Given the description of an element on the screen output the (x, y) to click on. 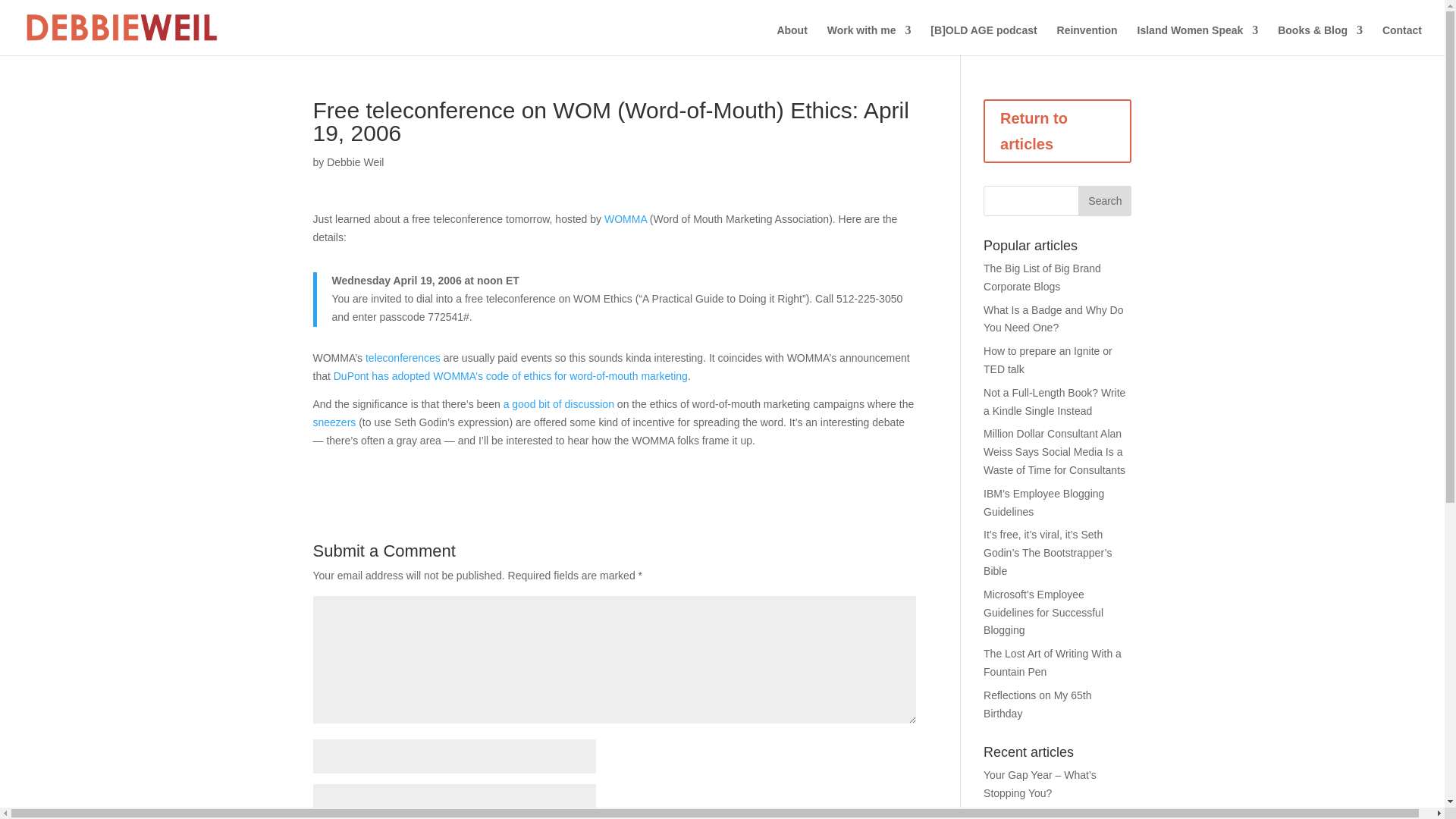
WOMMA (626, 218)
Island Women Speak (1198, 40)
Contact (1401, 40)
Reinvention (1087, 40)
About (791, 40)
Posts by Debbie Weil (355, 162)
Debbie Weil (355, 162)
Search (1104, 200)
Work with me (869, 40)
teleconferences (403, 357)
